Given the description of an element on the screen output the (x, y) to click on. 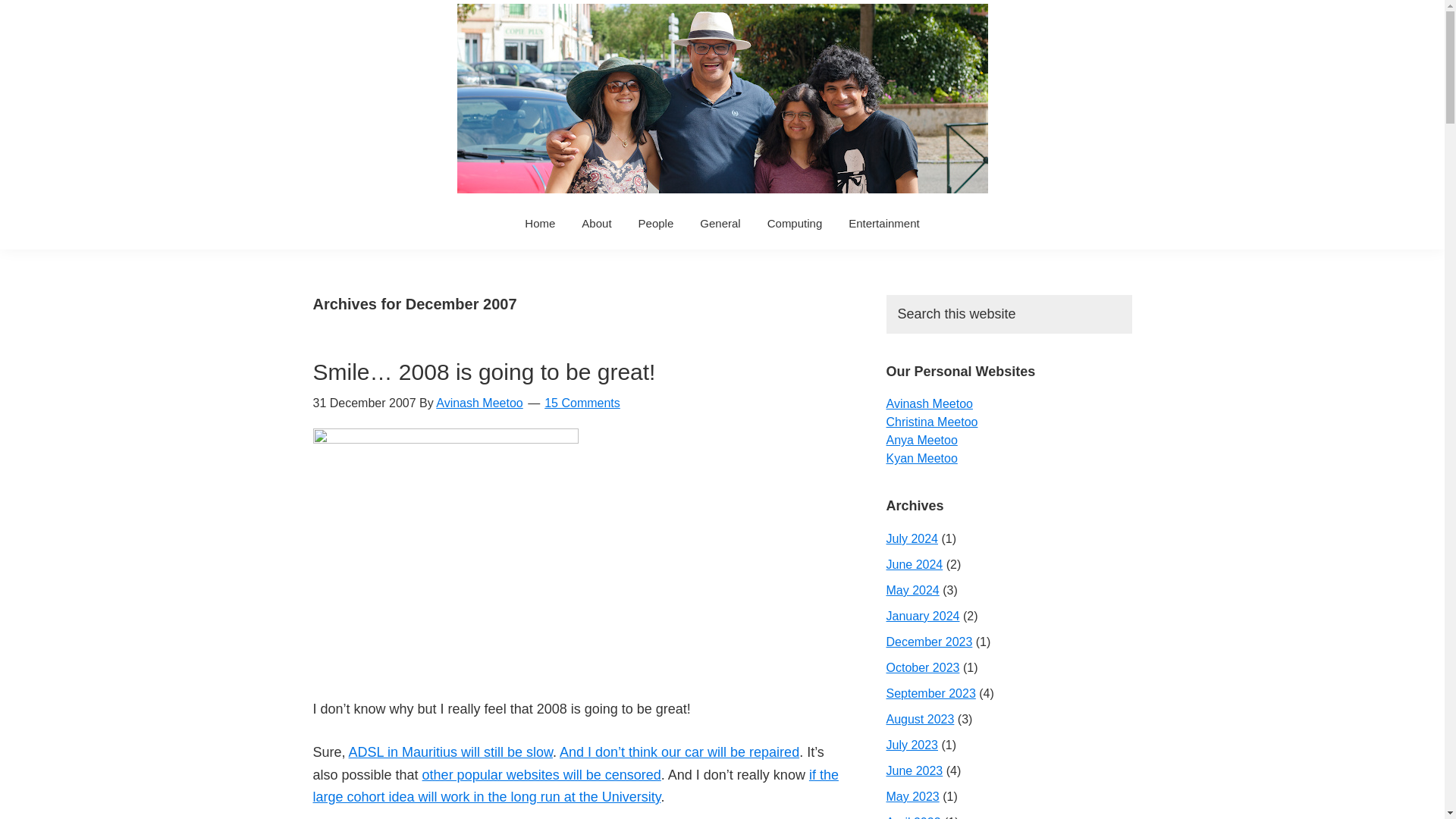
Computing (794, 223)
About (596, 223)
ADSL in Mauritius will still be slow (451, 752)
General (719, 223)
Home (539, 223)
Entertainment (883, 223)
People (656, 223)
15 Comments (582, 402)
other popular websites will be censored (541, 774)
Avinash Meetoo (478, 402)
